Given the description of an element on the screen output the (x, y) to click on. 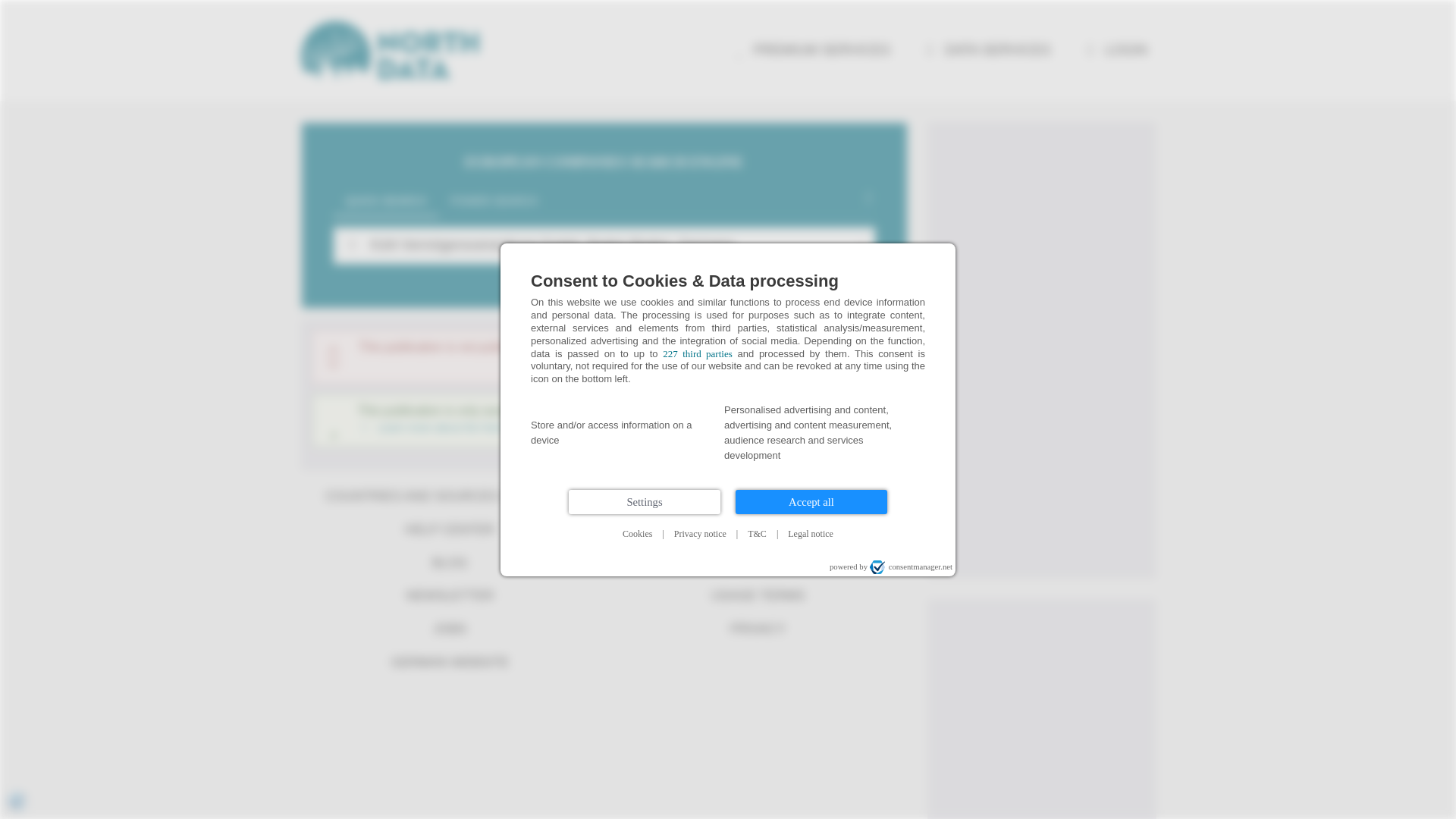
HELP CENTER (449, 530)
Search (351, 244)
consentmanager.net (910, 566)
INVESTIGATIVE JOURNALISM (758, 562)
PREMIUM SERVICES (809, 49)
POWER SEARCH (494, 201)
Accept all (810, 501)
LOGIN (1114, 49)
Privacy notice (699, 533)
COUNTRIES AND SOURCES COVERAGE (449, 496)
Purpose (727, 433)
DATA SERVICES (984, 49)
USAGE TERMS (758, 595)
Legal notice (810, 533)
ABOUT US (758, 530)
